Given the description of an element on the screen output the (x, y) to click on. 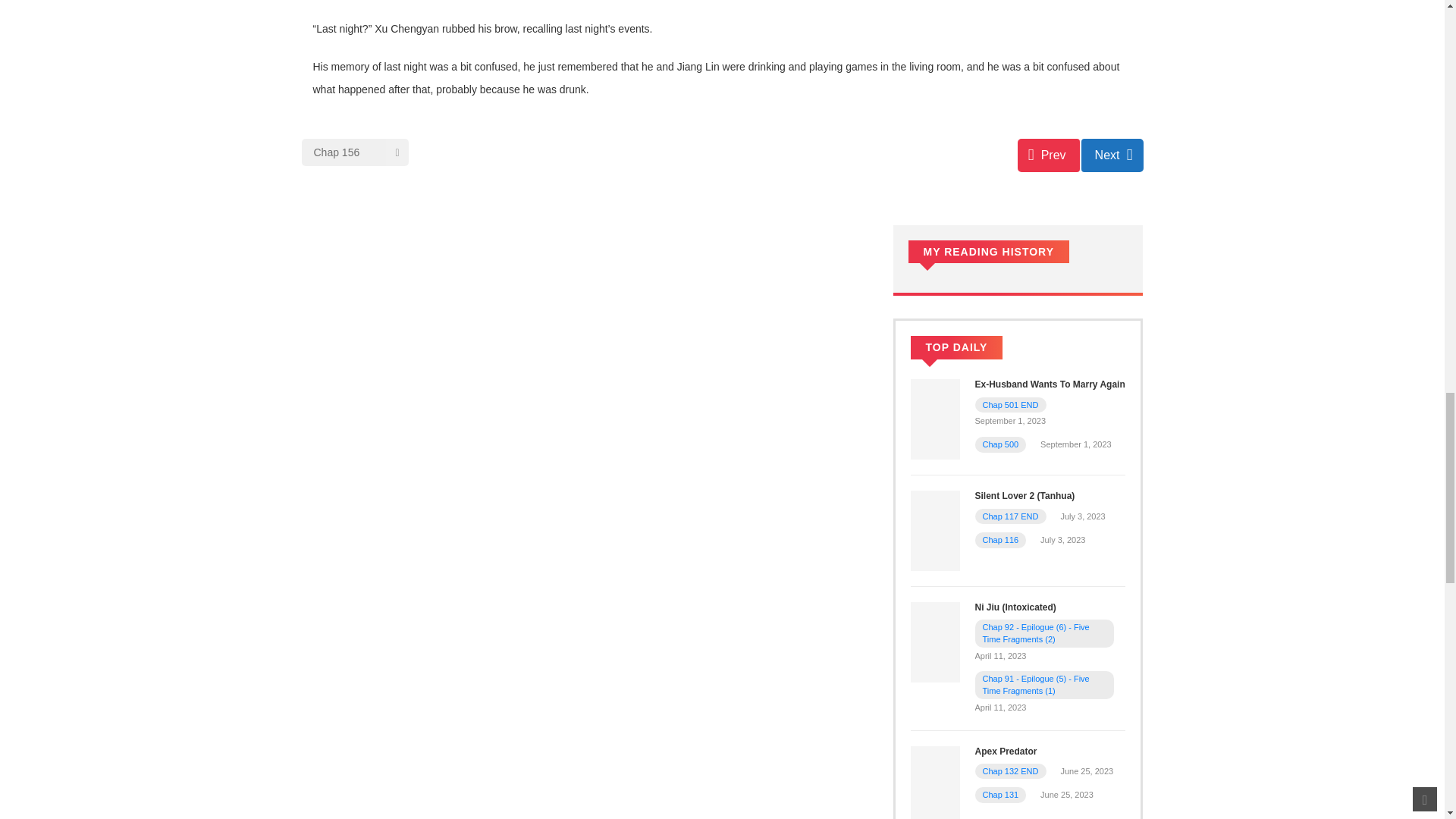
Apex Predator (1005, 751)
Ex-Husband Wants To Marry Again (1050, 384)
Chap 157 (1111, 154)
Chap 117 END (1010, 515)
Chap 155 (1048, 154)
Chap 500 (1000, 443)
Chap 501 END (1010, 404)
Ex-Husband Wants To Marry Again (934, 418)
Prev (1048, 154)
Chap 116 (1000, 539)
Next (1111, 154)
Ex-Husband Wants To Marry Again (1050, 384)
Apex Predator (934, 784)
